Given the description of an element on the screen output the (x, y) to click on. 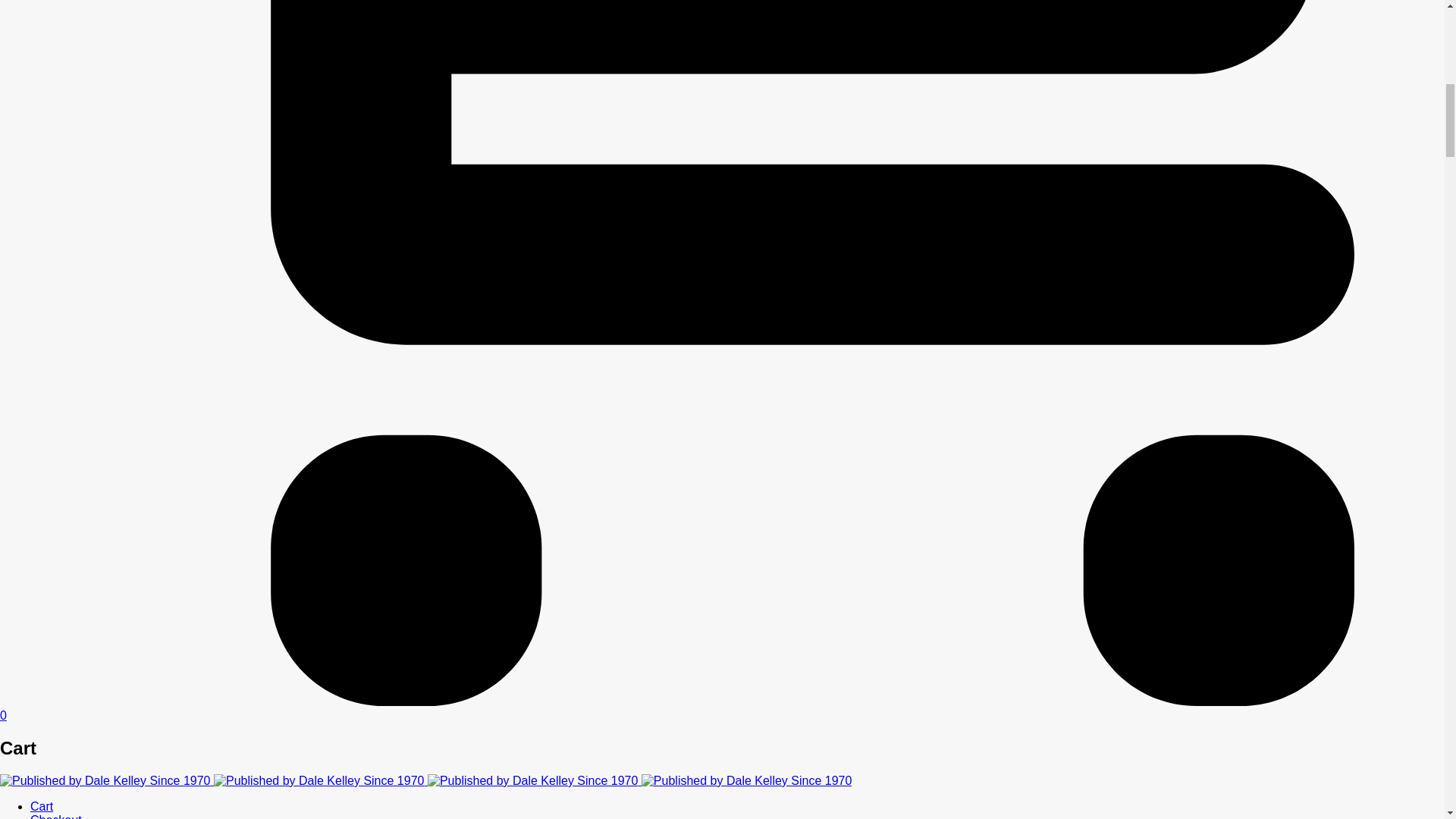
Antique Toy World Magazine (425, 780)
Cart (41, 806)
Published by Dale Kelley Since 1970 (533, 780)
Checkout (55, 816)
Published by Dale Kelley Since 1970 (319, 780)
Checkout (55, 816)
Published by Dale Kelley Since 1970 (105, 780)
Published by Dale Kelley Since 1970 (746, 780)
Cart (41, 806)
